Given the description of an element on the screen output the (x, y) to click on. 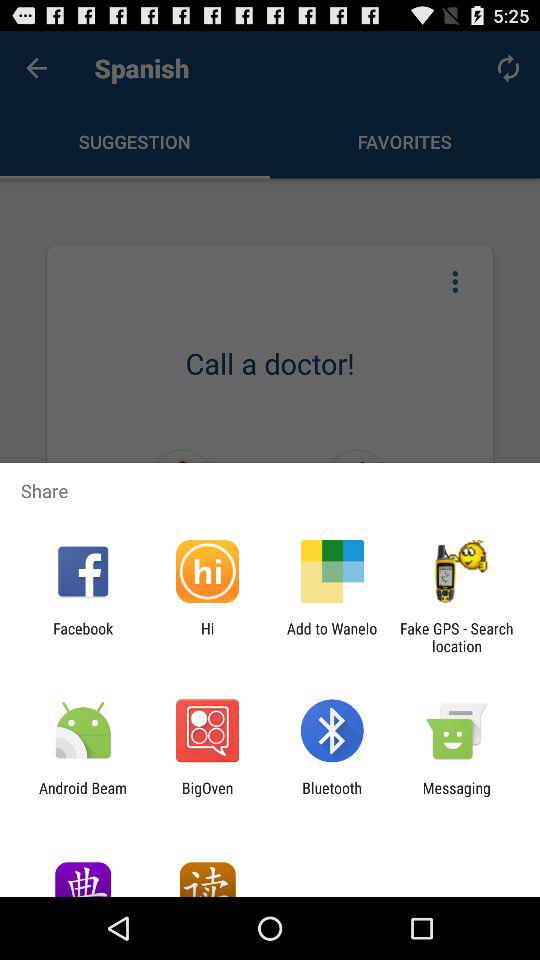
turn off messaging app (456, 796)
